Given the description of an element on the screen output the (x, y) to click on. 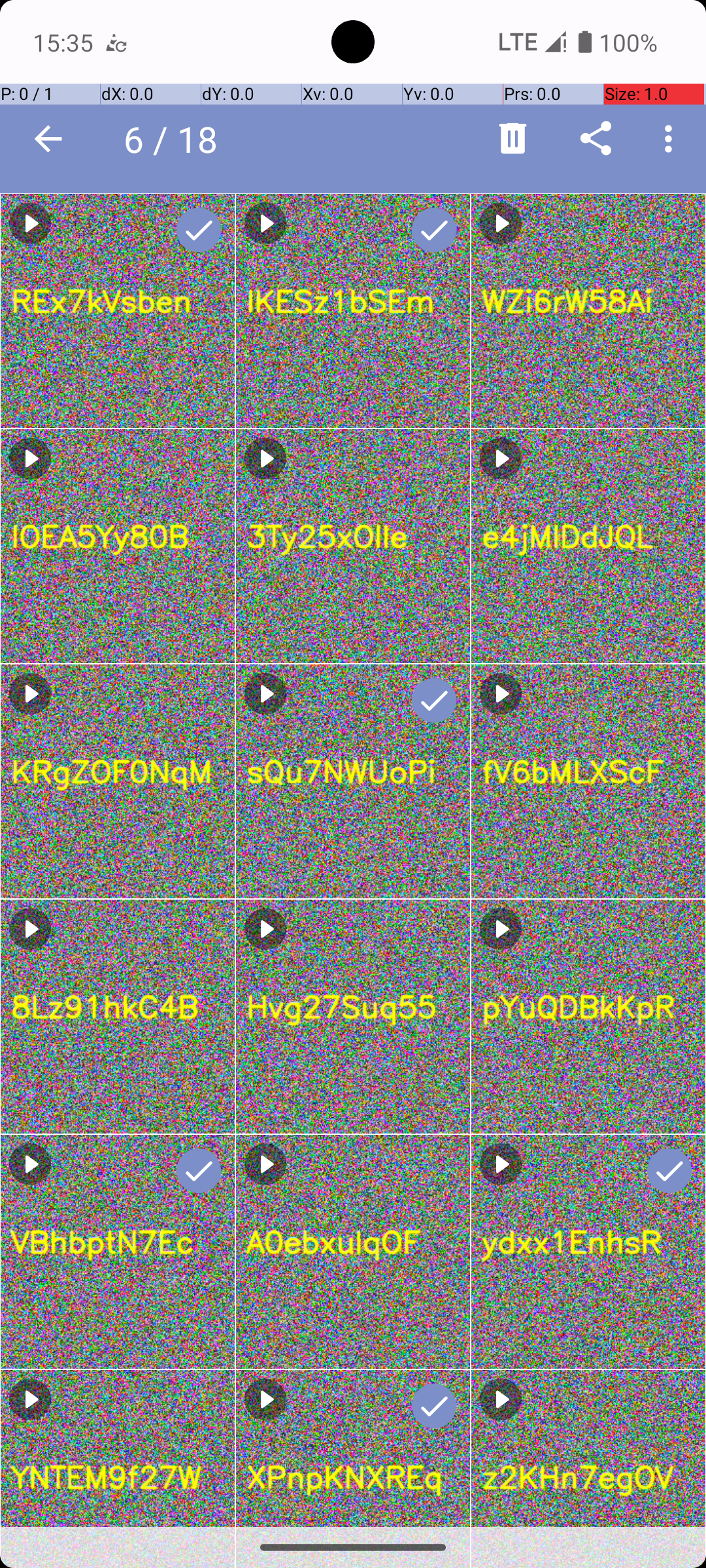
6 / 18 Element type: android.widget.TextView (177, 138)
Search in VLCVideos Element type: android.widget.EditText (252, 138)
